Given the description of an element on the screen output the (x, y) to click on. 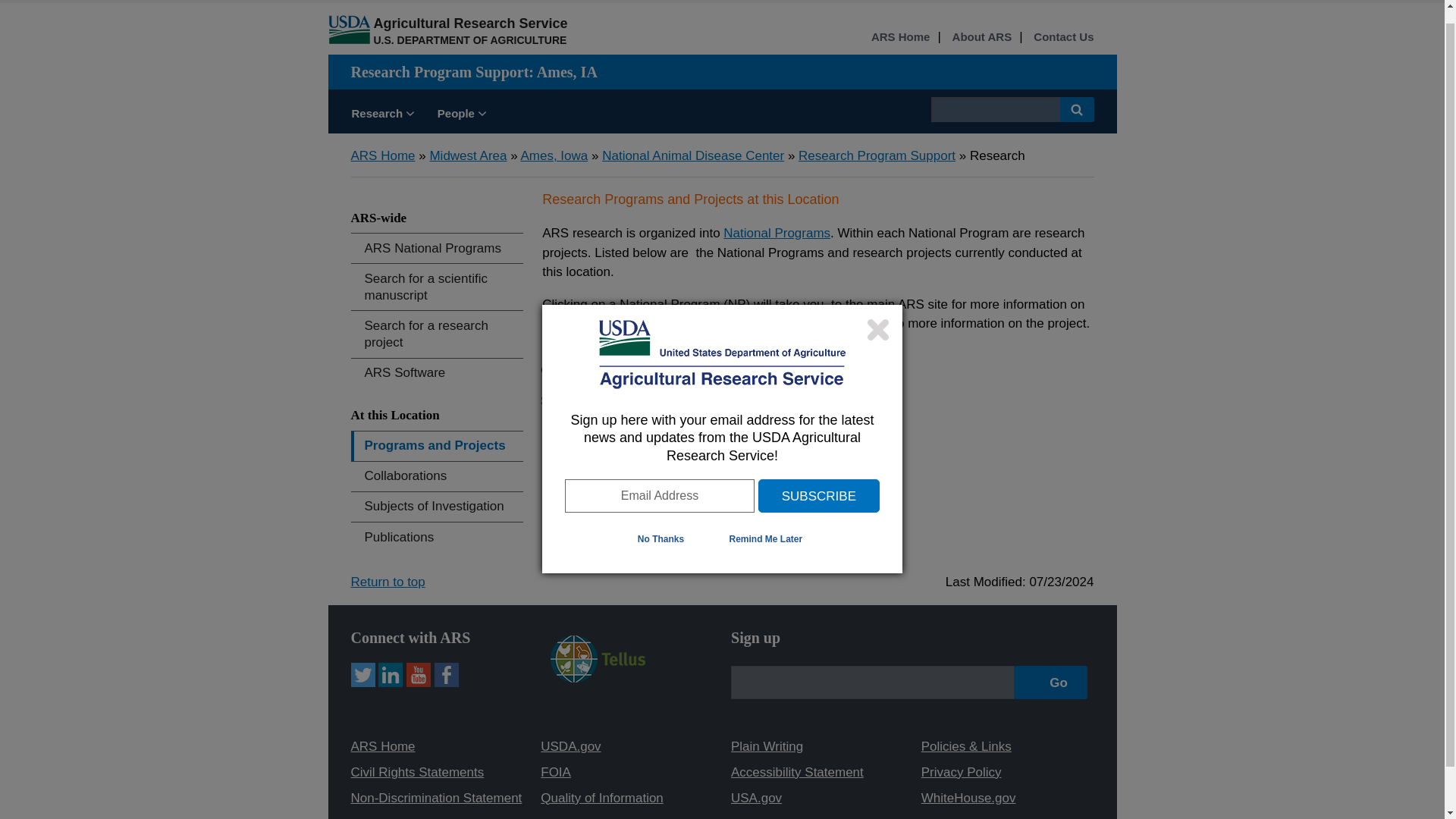
Agricultural Research Service Home (469, 23)
Midwest Area (467, 155)
Tellus (597, 677)
Agricultural Research Service (469, 23)
ARS Home (900, 36)
Facebook Icon (445, 674)
Contact Us (1063, 36)
Tellus (597, 658)
Contact Us (1063, 36)
ARS Home (382, 155)
About ARS (981, 36)
ARS Software (436, 373)
Publications (436, 537)
National Programs (776, 233)
Research Program Support (876, 155)
